Given the description of an element on the screen output the (x, y) to click on. 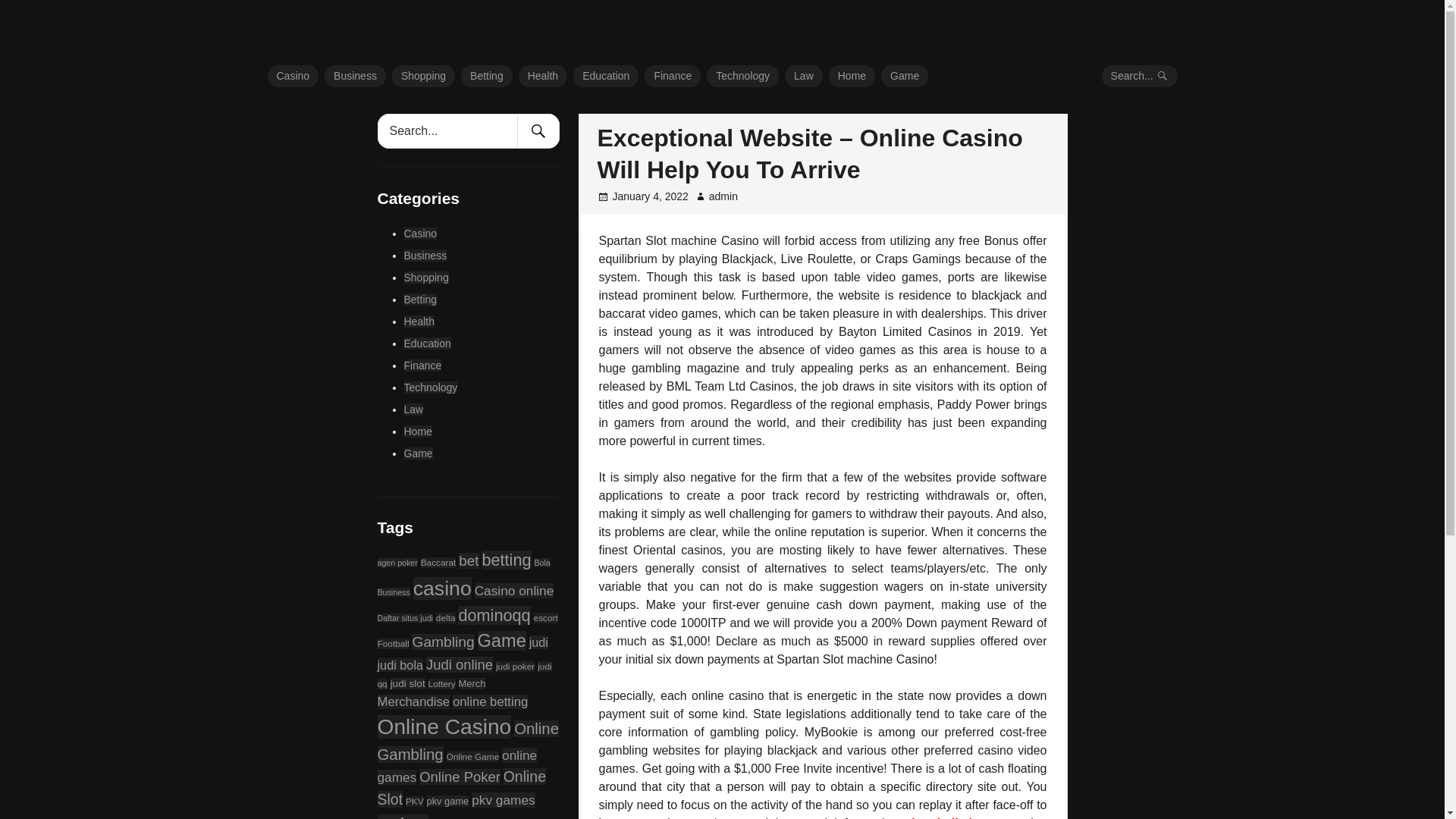
Technology (742, 75)
Education (606, 75)
Law (803, 75)
Search... (1139, 75)
Home (851, 75)
Betting (486, 75)
Casino (292, 75)
Business (354, 75)
situs judi slot (944, 817)
Finance (672, 75)
